Given the description of an element on the screen output the (x, y) to click on. 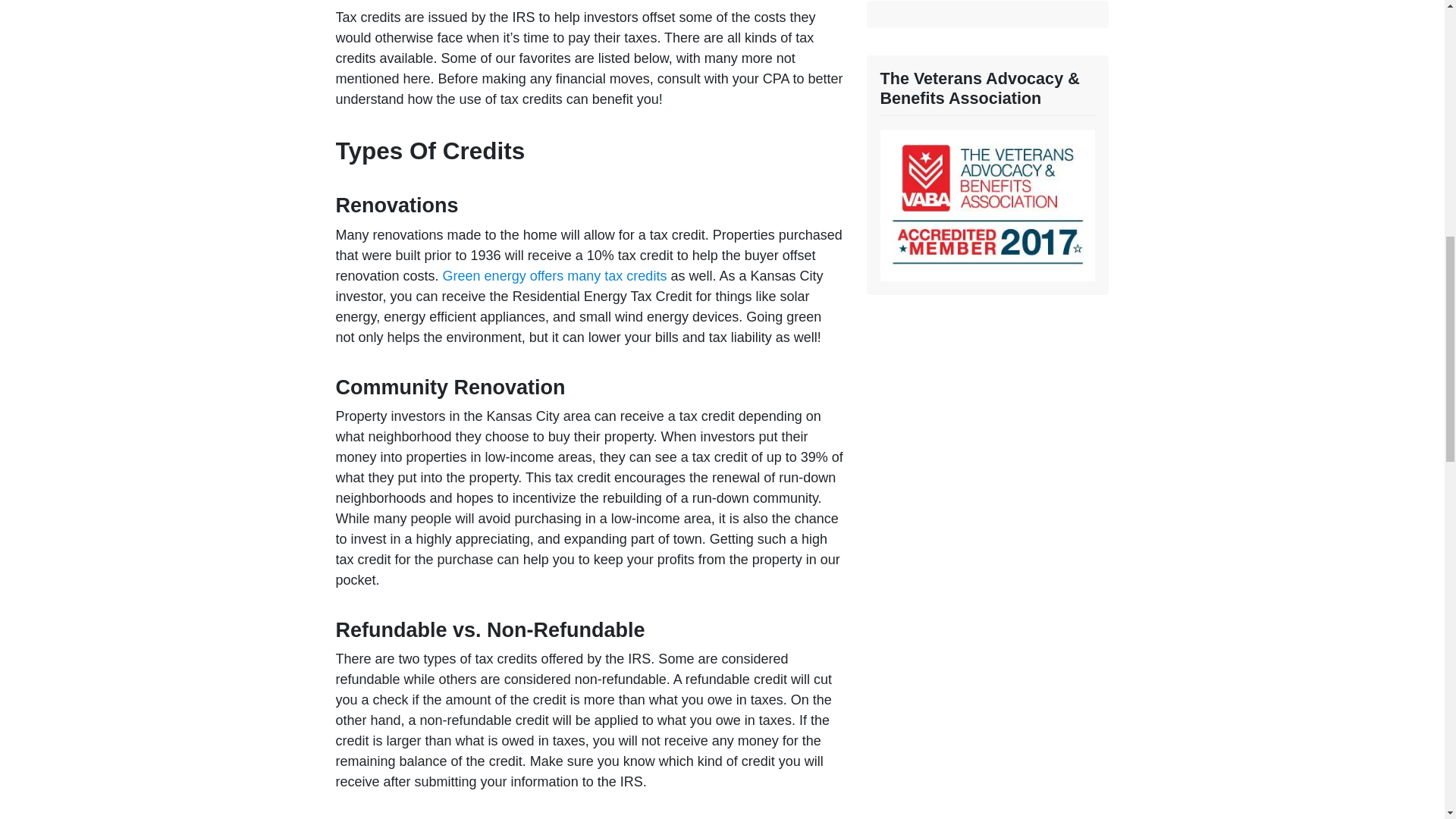
Green energy offers many tax credits (554, 275)
